Given the description of an element on the screen output the (x, y) to click on. 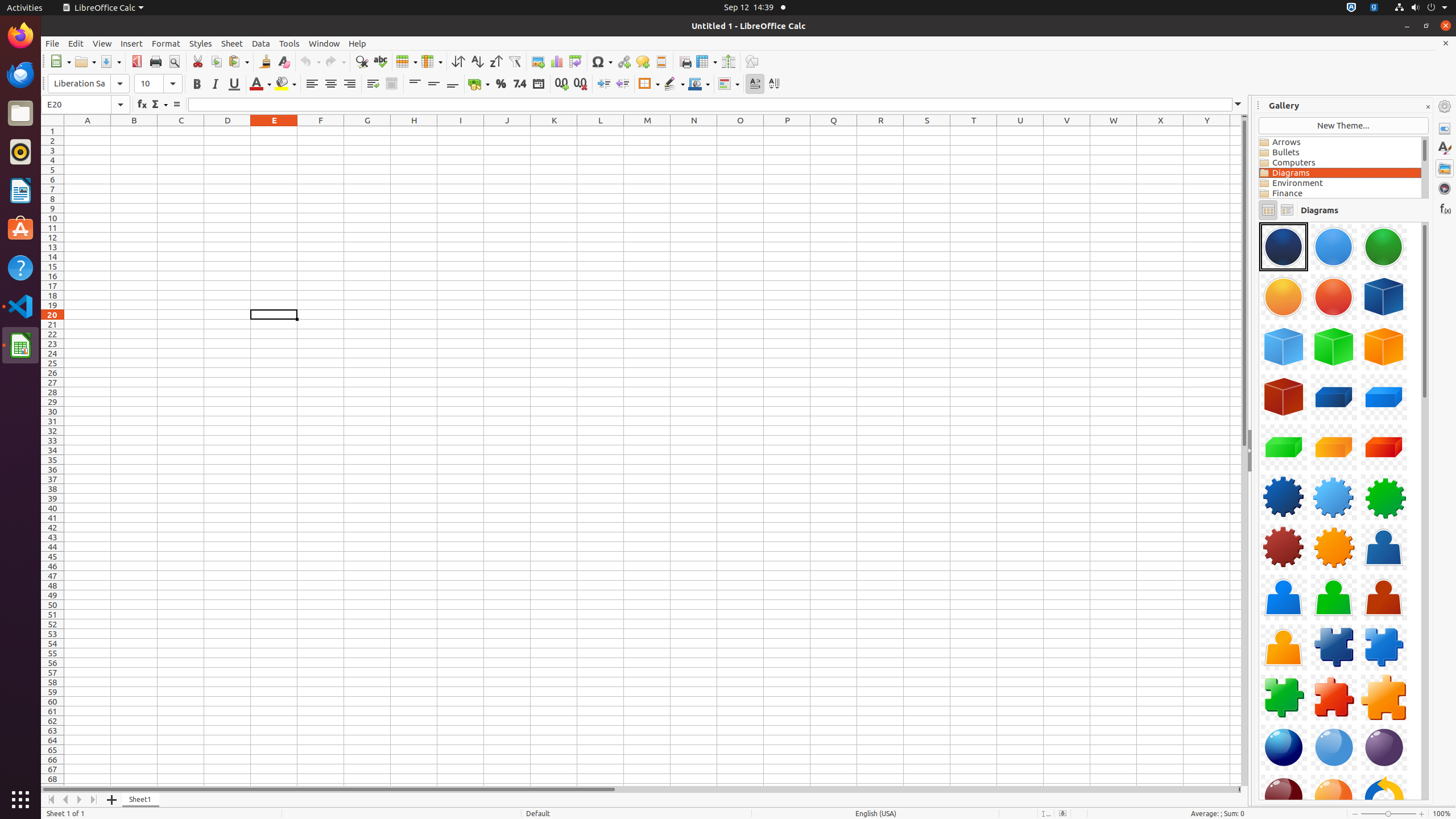
Component-Sphere01-DarkBlue Element type: list-item (1283, 746)
Freeze Rows and Columns Element type: push-button (705, 61)
Component-PuzzlePiece03-Green Element type: list-item (1283, 696)
V1 Element type: table-cell (1066, 130)
Italic Element type: toggle-button (214, 83)
